Given the description of an element on the screen output the (x, y) to click on. 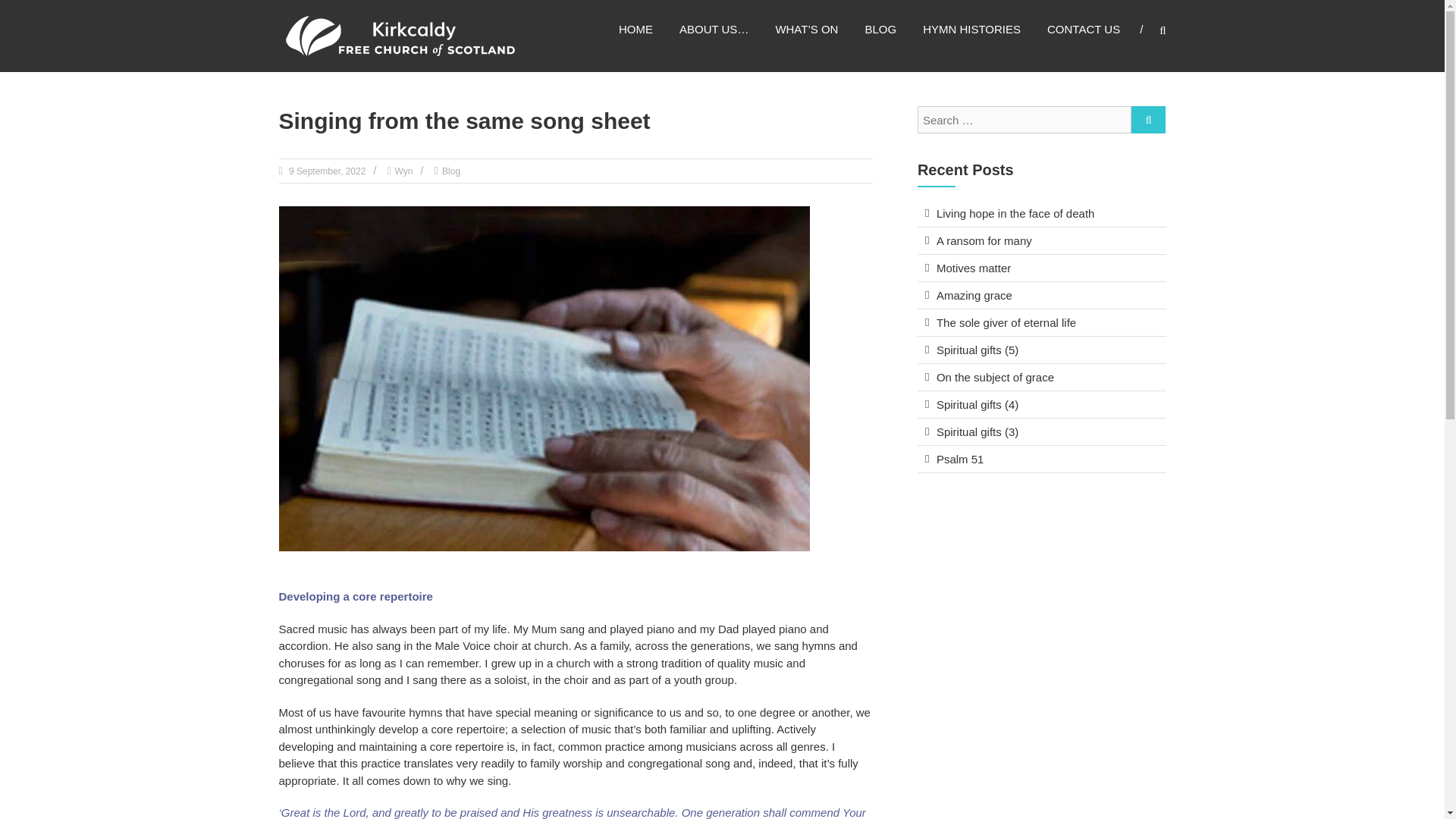
Amazing grace (973, 295)
11:27 am (326, 171)
A ransom for many (984, 240)
HYMN HISTORIES (971, 29)
Blog (451, 171)
On the subject of grace (995, 377)
Wyn (403, 171)
Search (1148, 119)
Motives matter (973, 267)
BLOG (880, 29)
HOME (635, 29)
The sole giver of eternal life (1005, 322)
Search (1232, 409)
CONTACT US (1082, 29)
